Given the description of an element on the screen output the (x, y) to click on. 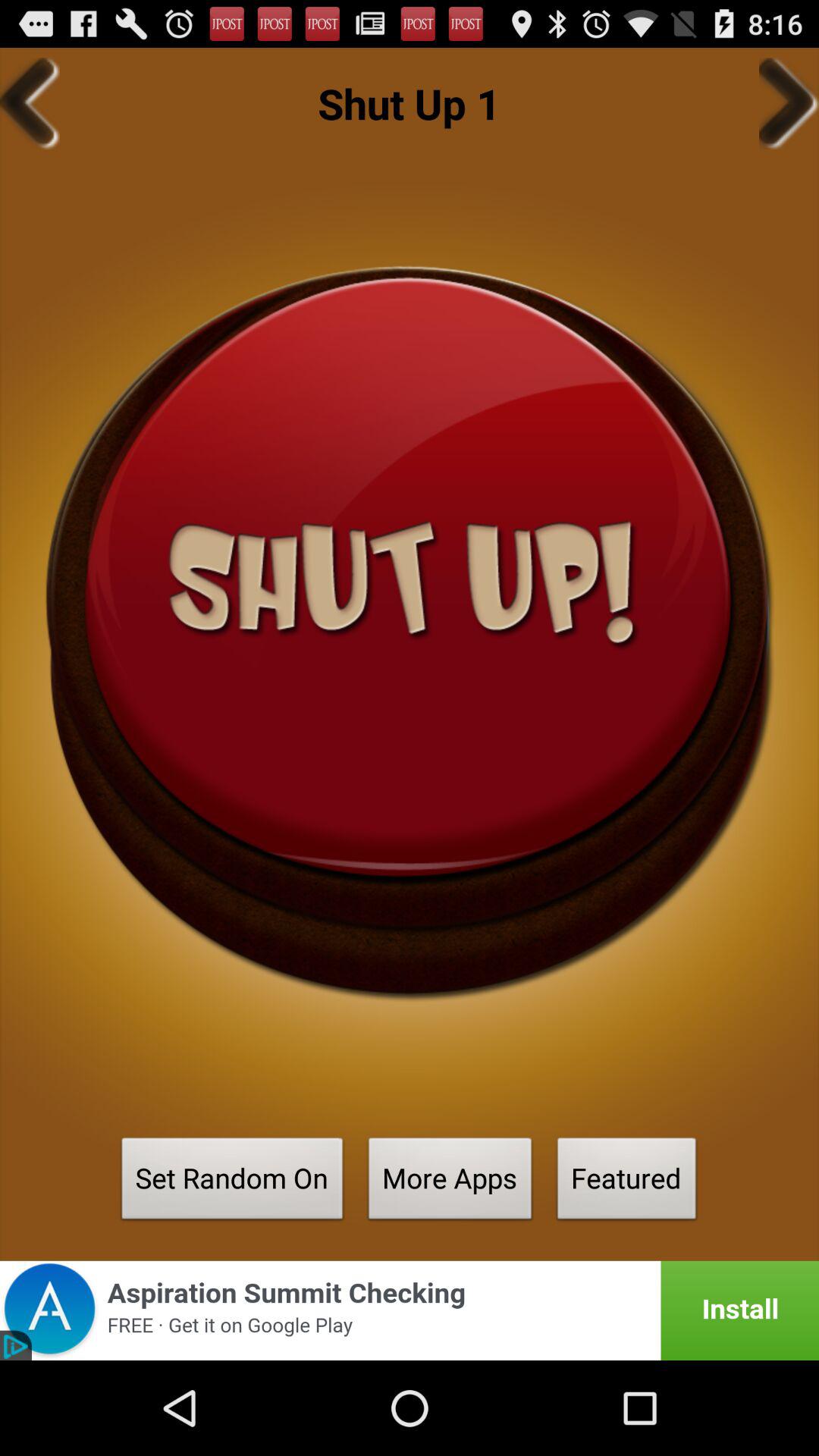
go to next (789, 103)
